Given the description of an element on the screen output the (x, y) to click on. 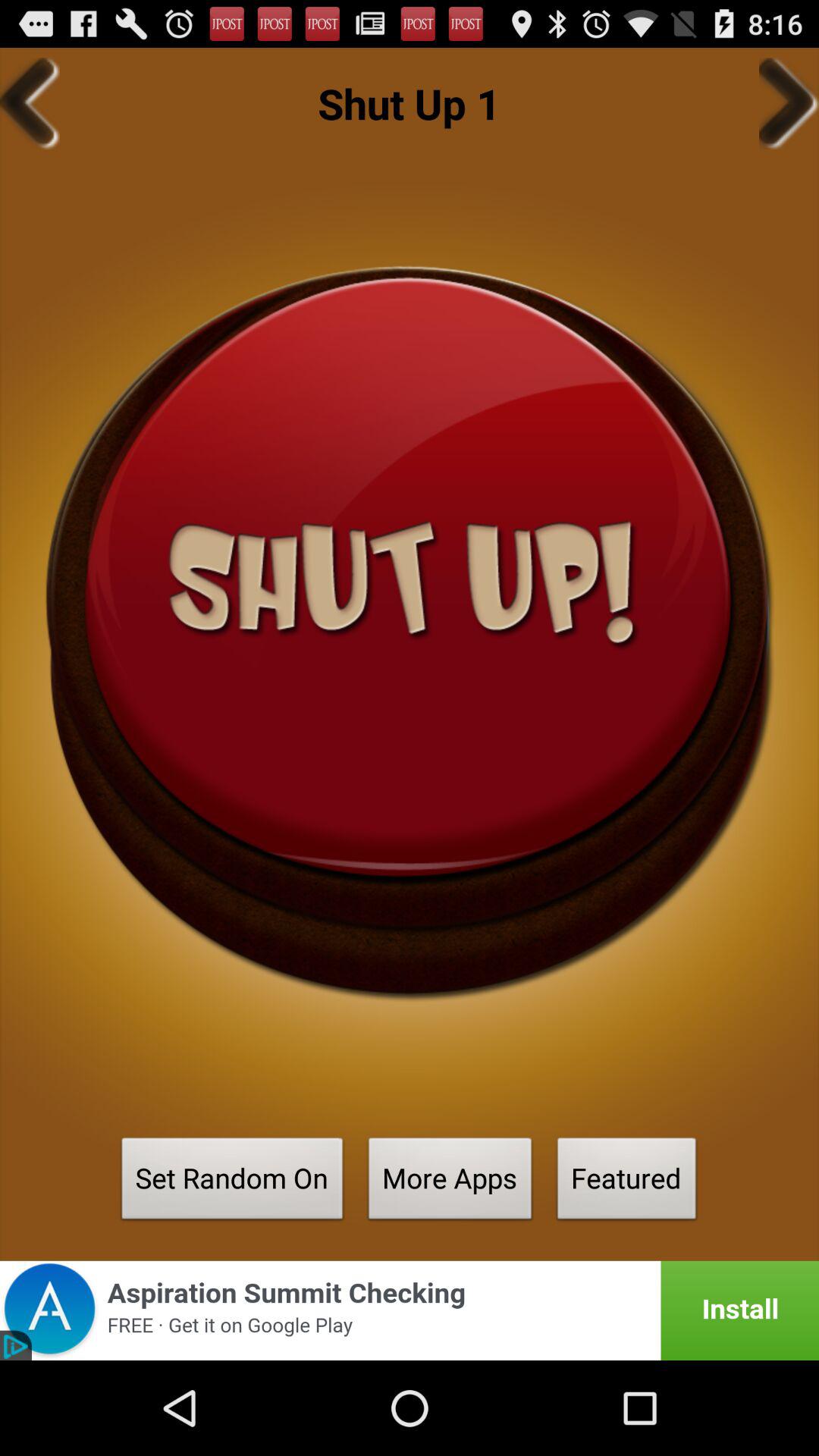
go to next (789, 103)
